Given the description of an element on the screen output the (x, y) to click on. 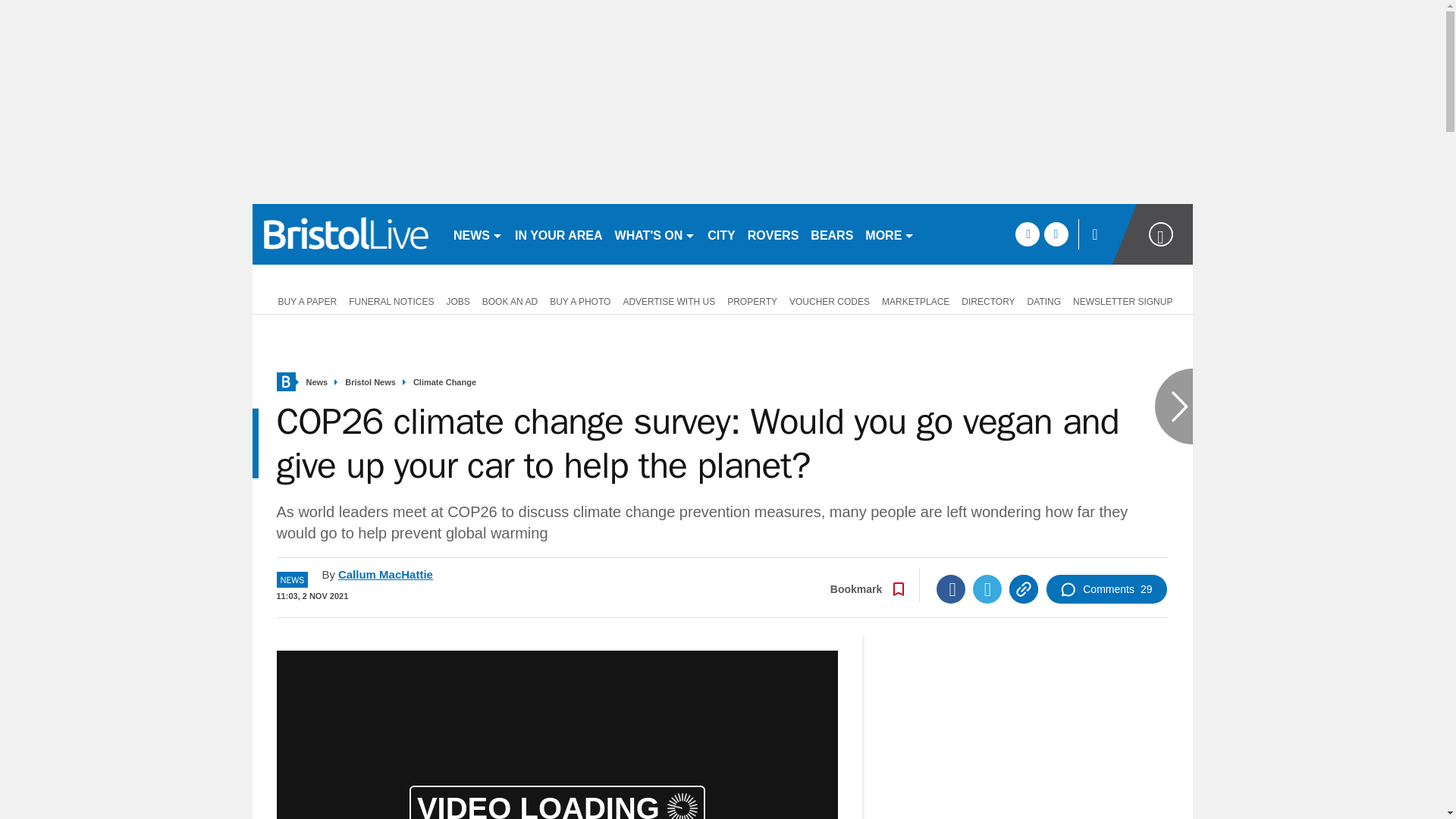
NEWS (477, 233)
ROVERS (773, 233)
BEARS (832, 233)
bristolpost (345, 233)
WHAT'S ON (654, 233)
Comments (1105, 588)
Facebook (950, 588)
facebook (1026, 233)
IN YOUR AREA (558, 233)
Twitter (986, 588)
